Given the description of an element on the screen output the (x, y) to click on. 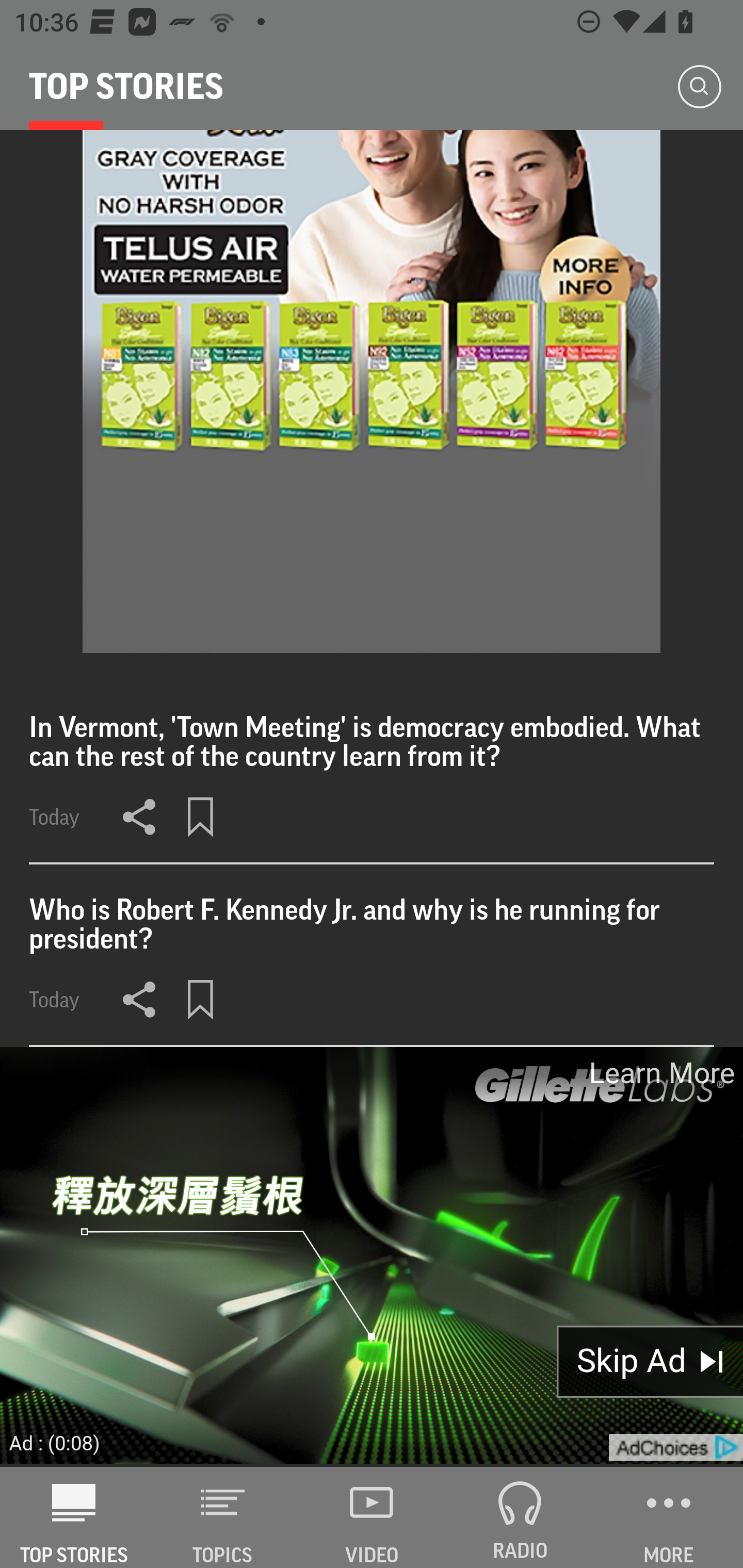
8 (371, 391)
Learn More (660, 1073)
Ad : (0:08) (54, 1442)
get?name=admarker-full-tl (675, 1447)
AP News TOP STORIES (74, 1517)
TOPICS (222, 1517)
VIDEO (371, 1517)
RADIO (519, 1517)
MORE (668, 1517)
